Given the description of an element on the screen output the (x, y) to click on. 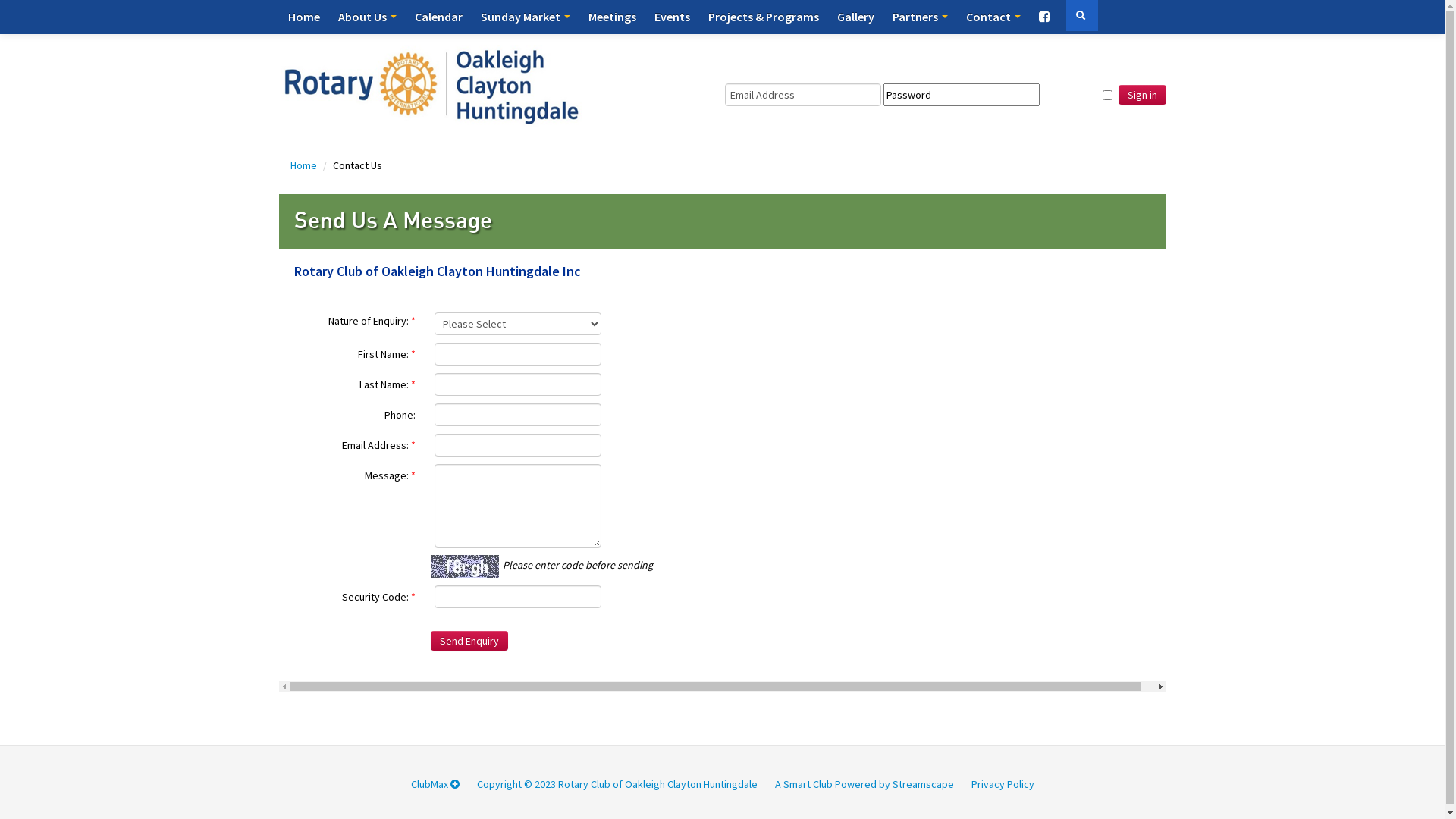
Sign in Element type: text (1141, 94)
Partners Element type: text (919, 16)
Contact Element type: text (993, 16)
About Us Element type: text (367, 16)
Events Element type: text (671, 16)
Sunday Market Element type: text (525, 16)
Send Enquiry Element type: text (469, 640)
Home Element type: text (303, 165)
Gallery Element type: text (855, 16)
Password Element type: text (961, 94)
ClubMax Element type: text (435, 783)
A Smart Club Powered by Streamscape Element type: text (864, 783)
Calendar Element type: text (437, 16)
Privacy Policy Element type: text (1001, 783)
Projects & Programs Element type: text (763, 16)
Forgotten your password? Element type: text (792, 113)
Meetings Element type: text (612, 16)
Home Element type: text (304, 16)
